Given the description of an element on the screen output the (x, y) to click on. 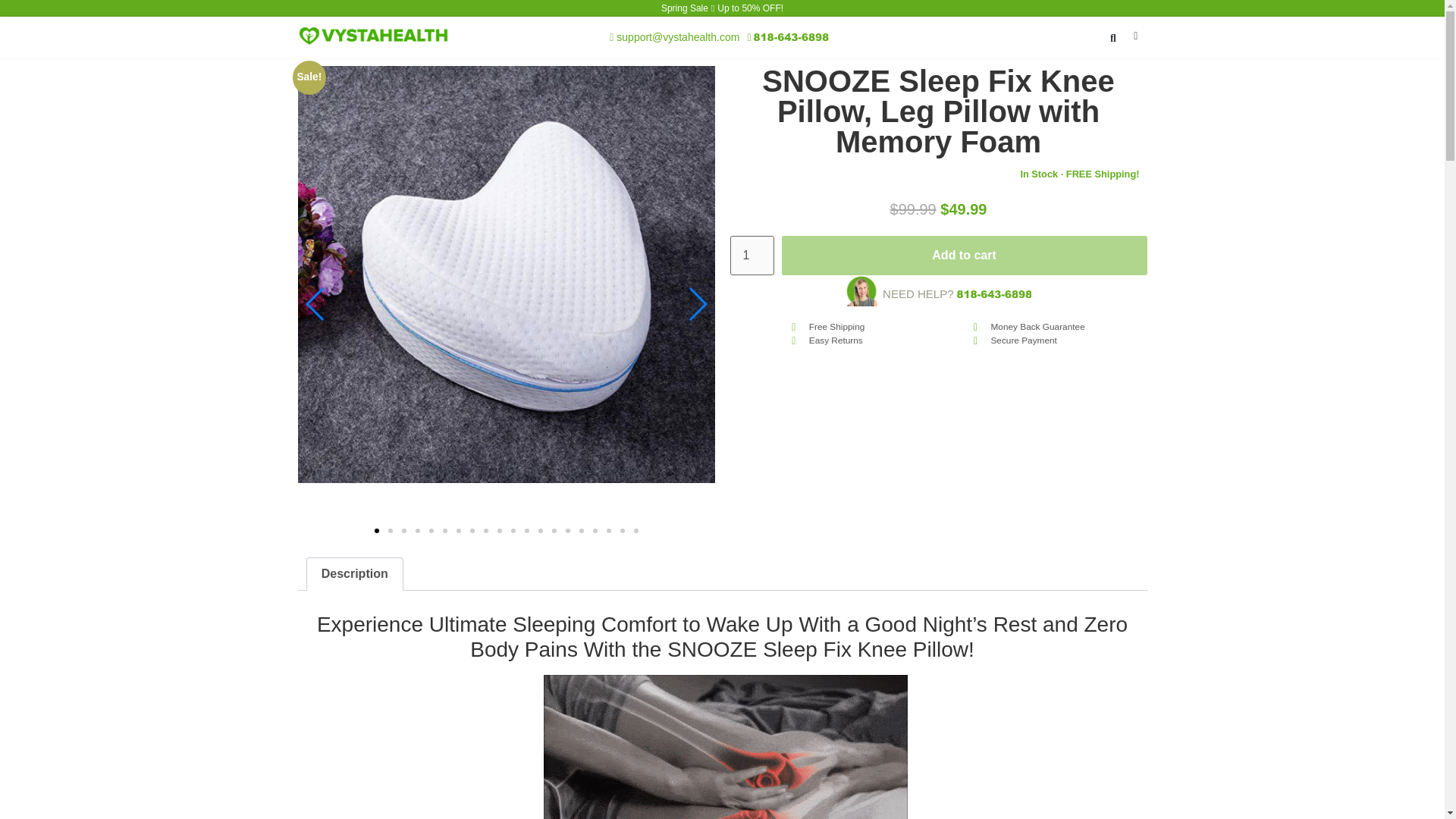
1 (751, 255)
Add to cart (964, 255)
Description (353, 573)
